Given the description of an element on the screen output the (x, y) to click on. 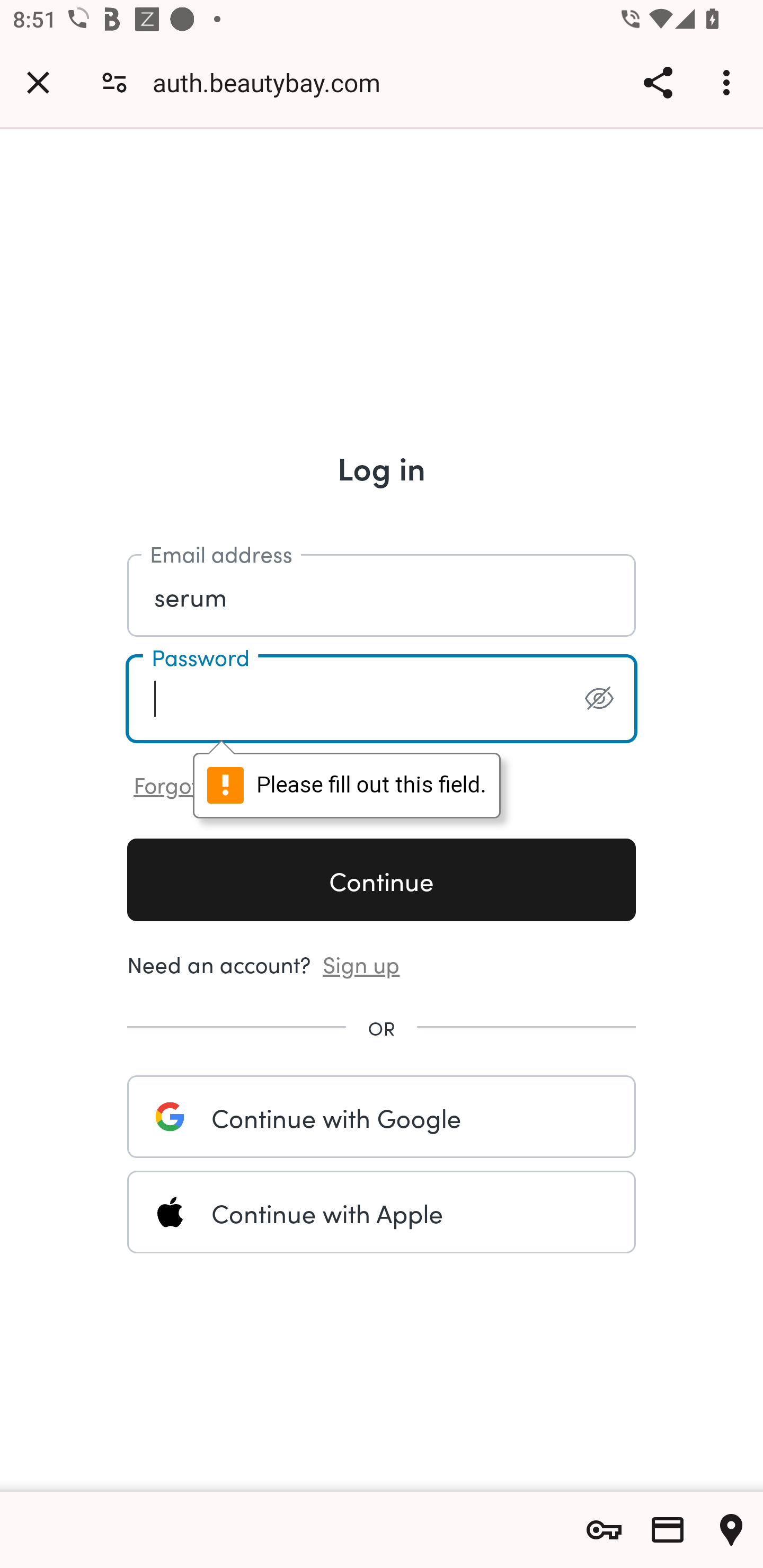
Close tab (38, 82)
Share (657, 82)
Customize and control Google Chrome (729, 82)
Connection is secure (114, 81)
auth.beautybay.com (272, 81)
serum (381, 594)
Hide password (599, 698)
Continue (381, 879)
Sign up (361, 962)
Continue with Google (381, 1116)
Continue with Apple (381, 1211)
Show saved passwords and password options (603, 1530)
Show saved payment methods (667, 1530)
Show saved addresses (731, 1530)
